Given the description of an element on the screen output the (x, y) to click on. 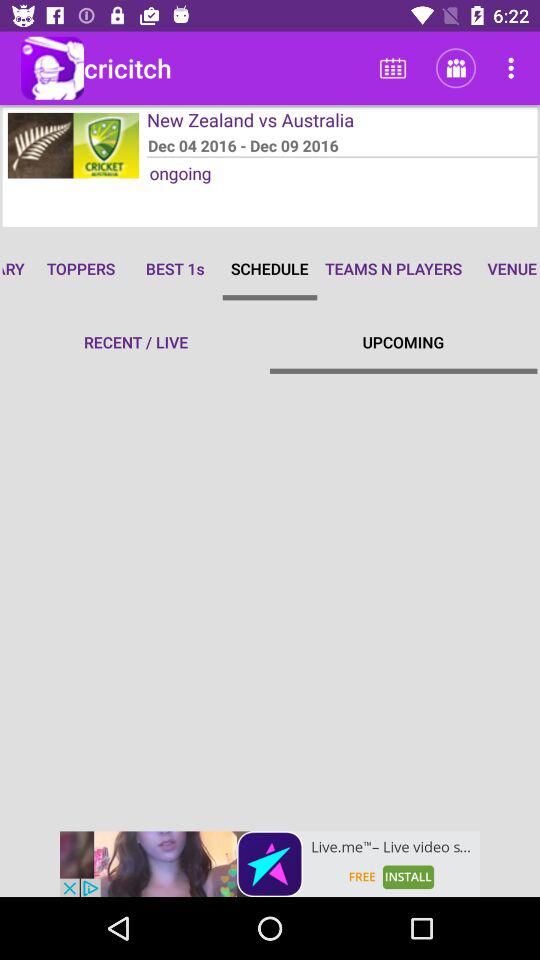
advertisement (270, 864)
